Given the description of an element on the screen output the (x, y) to click on. 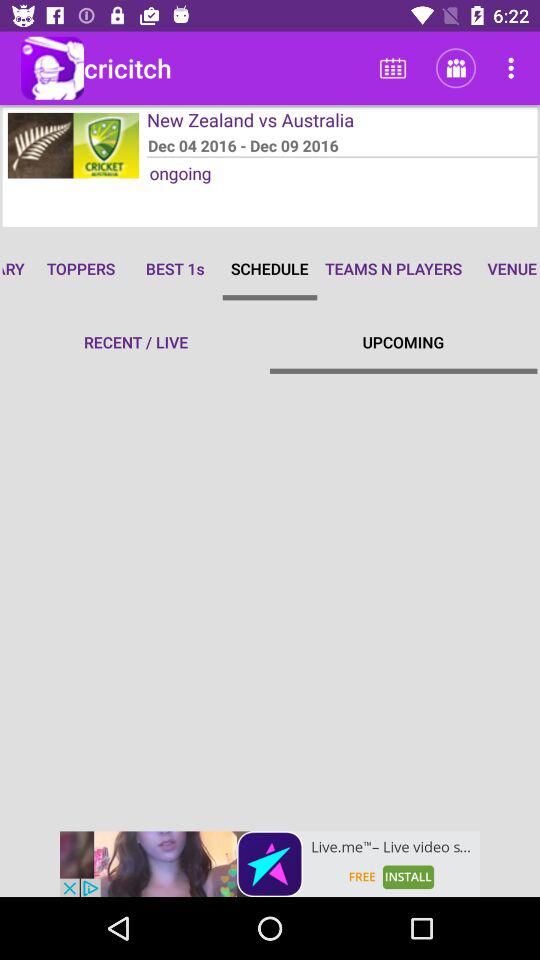
advertisement (270, 864)
